Given the description of an element on the screen output the (x, y) to click on. 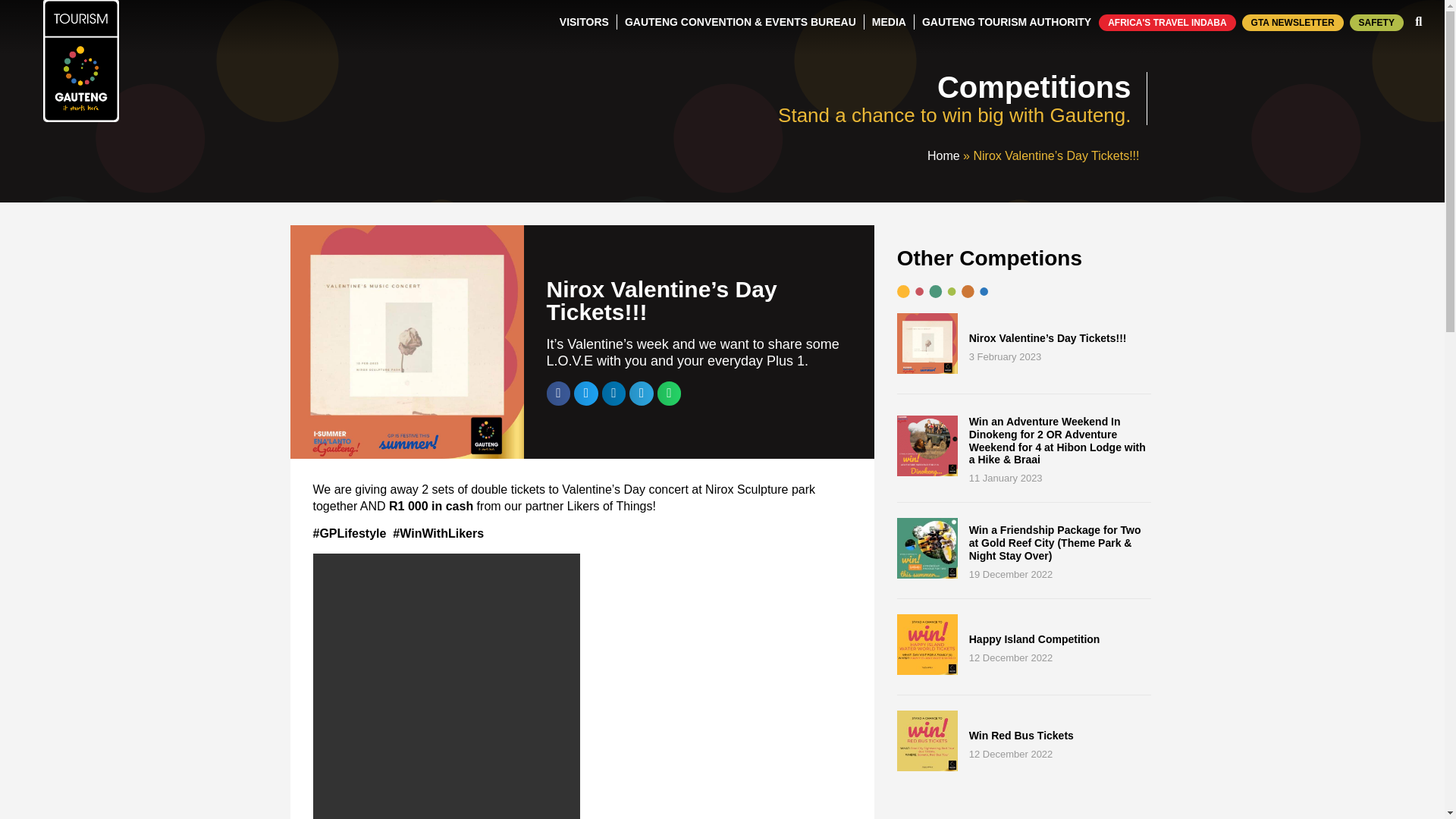
Win Red Bus Tickets (1021, 735)
Happy Island Competition (927, 670)
Win Red Bus Tickets (927, 766)
Happy Island Competition (1034, 639)
VISITORS (584, 21)
